Given the description of an element on the screen output the (x, y) to click on. 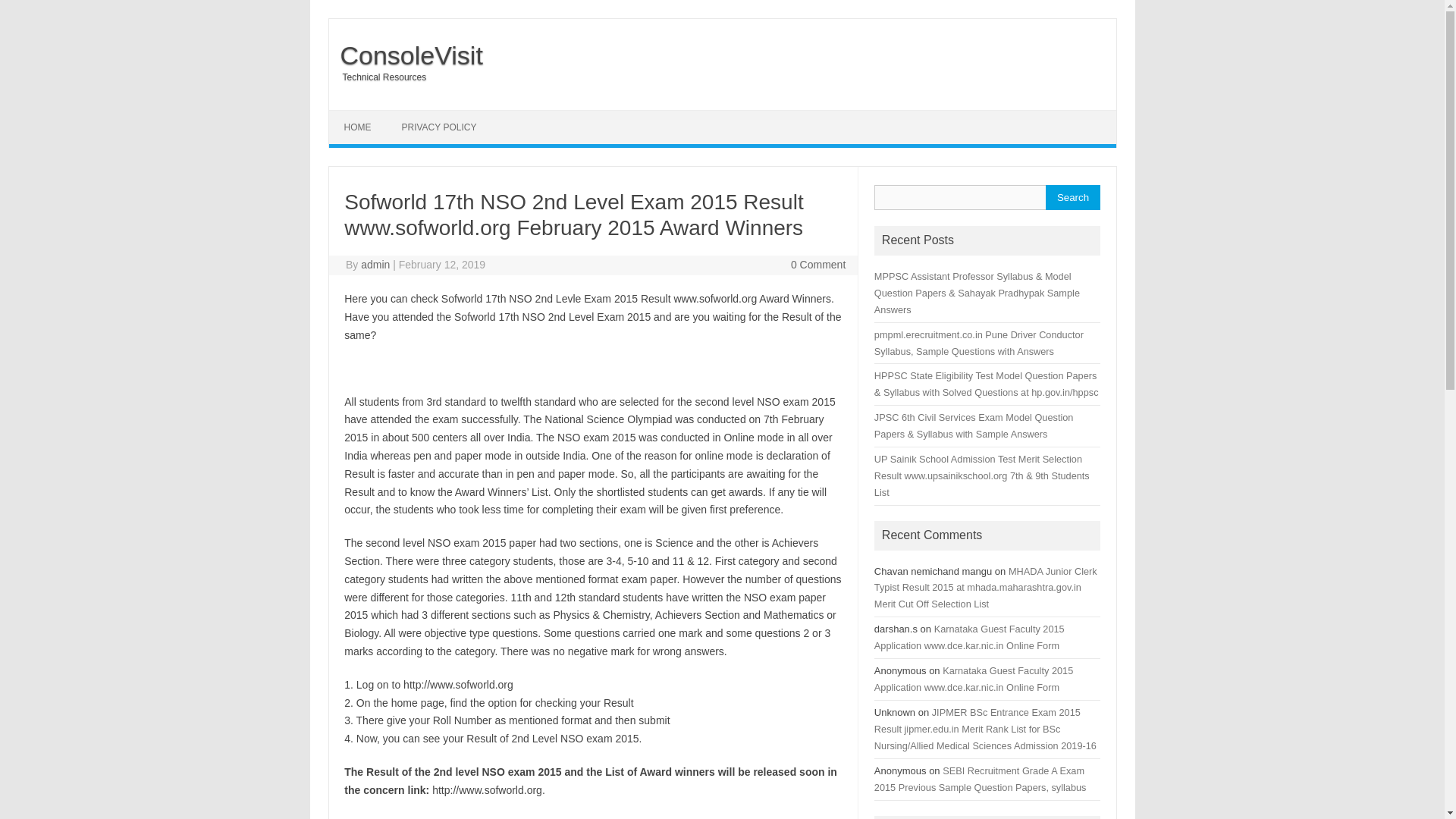
0 Comment (817, 264)
Search (1072, 197)
Skip to content (363, 114)
PRIVACY POLICY (439, 127)
admin (375, 264)
Posts by admin (375, 264)
Skip to content (363, 114)
Search (1072, 197)
ConsoleVisit (406, 54)
Technical Resources (377, 77)
